Given the description of an element on the screen output the (x, y) to click on. 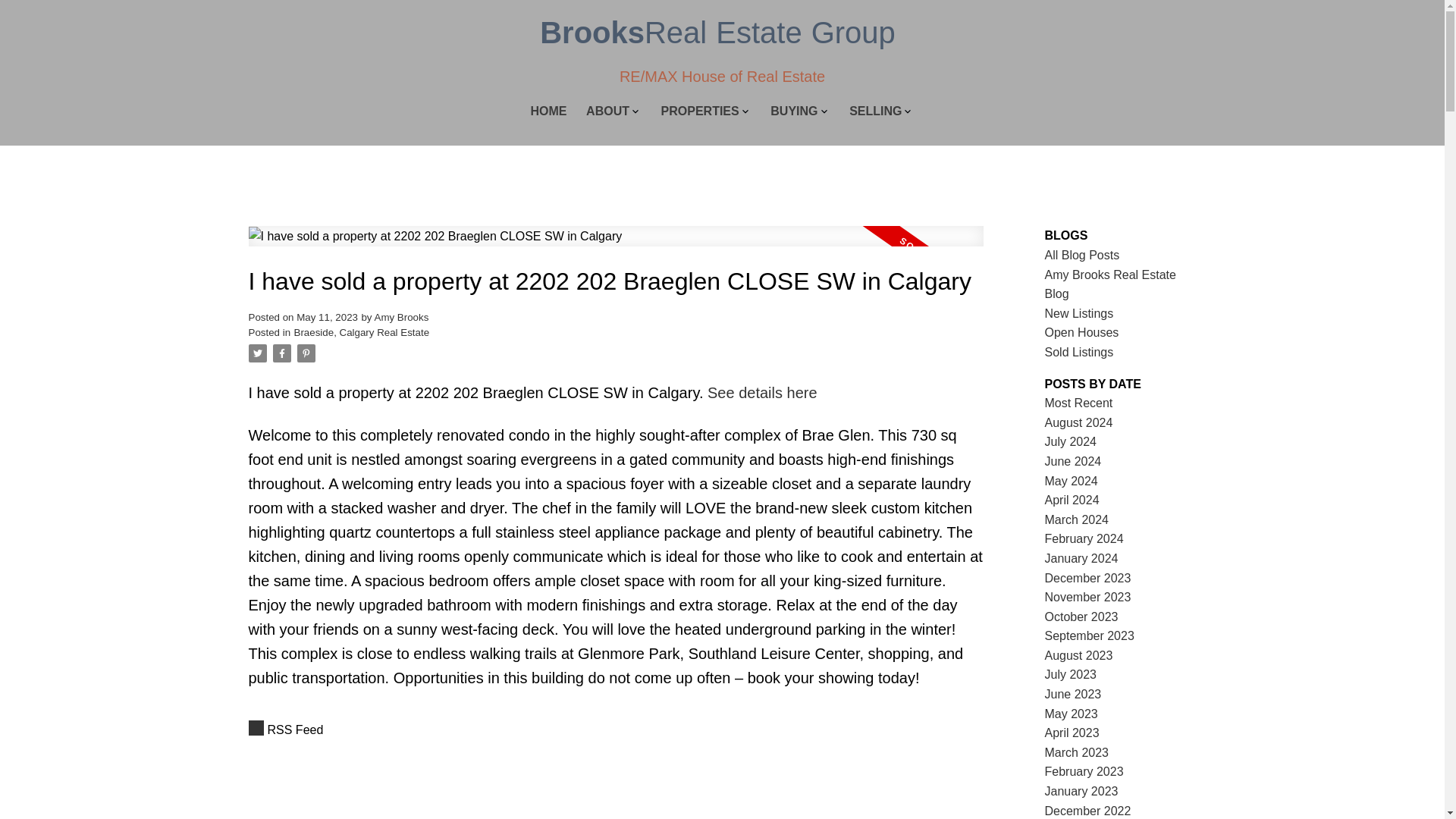
Most Recent (1079, 402)
October 2023 (1081, 616)
New Listings (1079, 313)
November 2023 (1088, 596)
BUYING (793, 112)
December 2023 (1088, 577)
SELLING (874, 112)
August 2024 (1079, 422)
Braeside, Calgary Real Estate (361, 332)
HOME (549, 112)
